Given the description of an element on the screen output the (x, y) to click on. 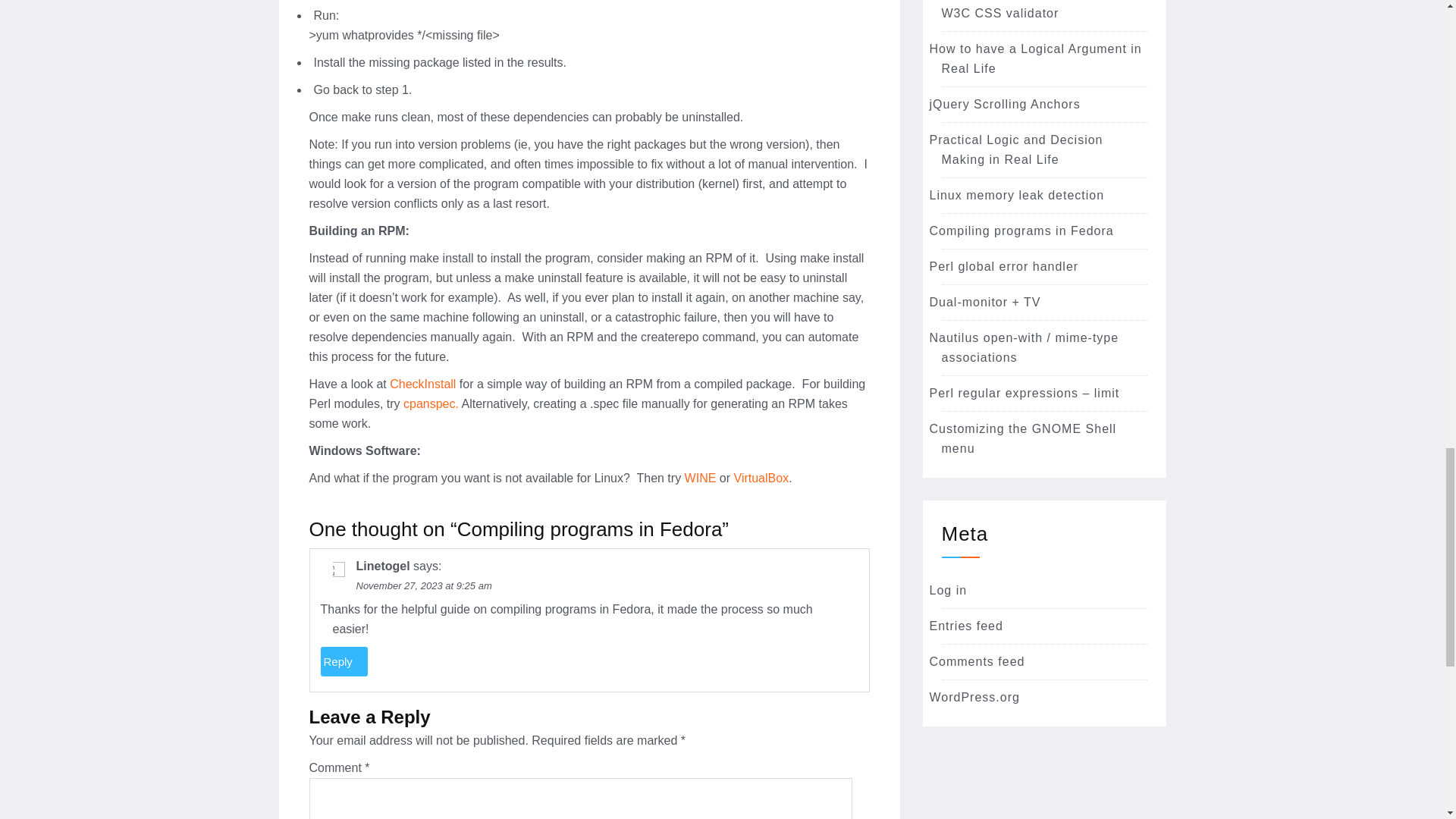
CheckInstall (422, 383)
cpanspec. (430, 403)
WINE (700, 477)
VirtualBox (761, 477)
Linetogel (383, 565)
Reply (343, 661)
November 27, 2023 at 9:25 am (424, 585)
